Given the description of an element on the screen output the (x, y) to click on. 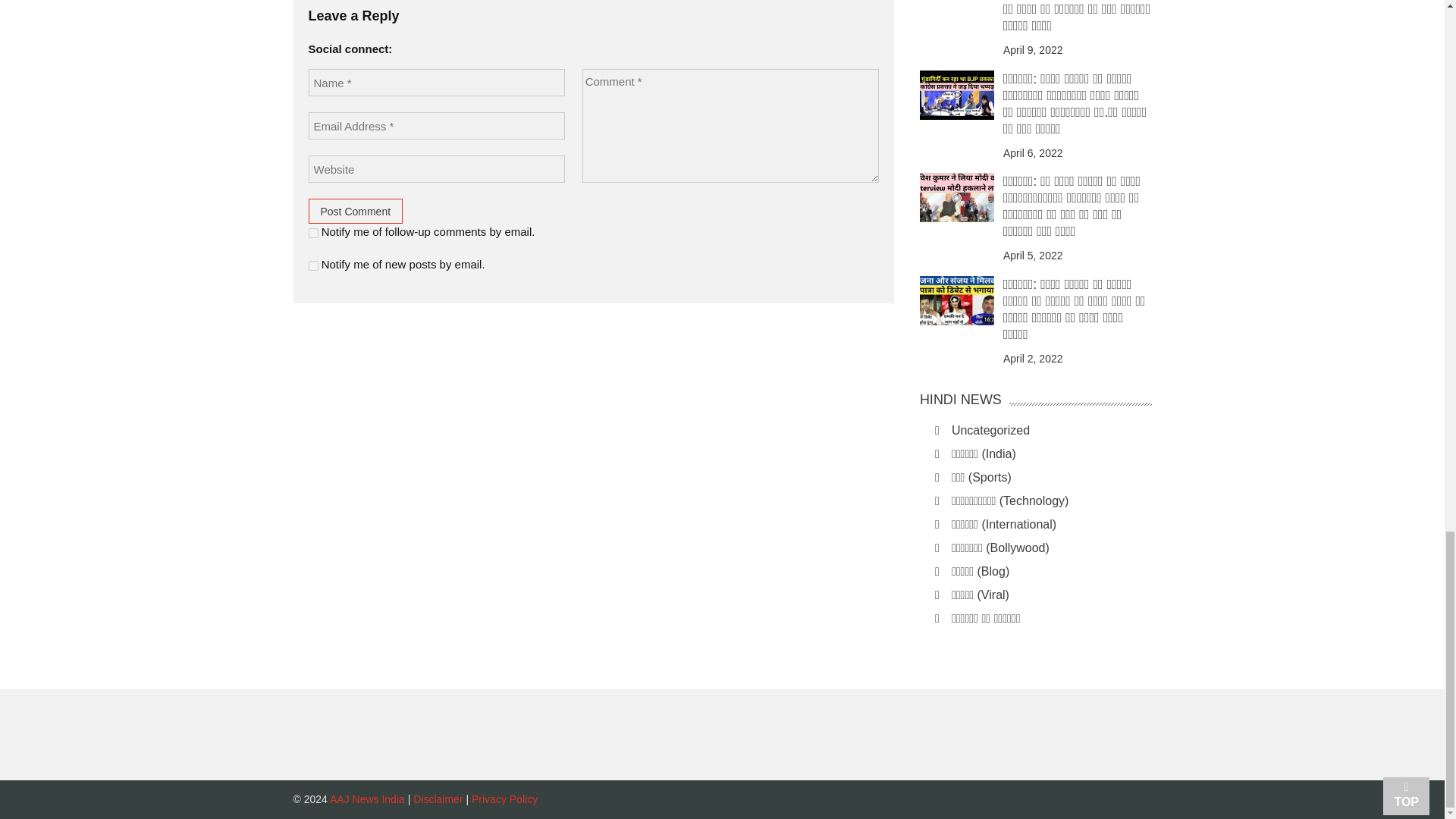
subscribe (312, 233)
Post Comment (355, 211)
subscribe (312, 265)
